Given the description of an element on the screen output the (x, y) to click on. 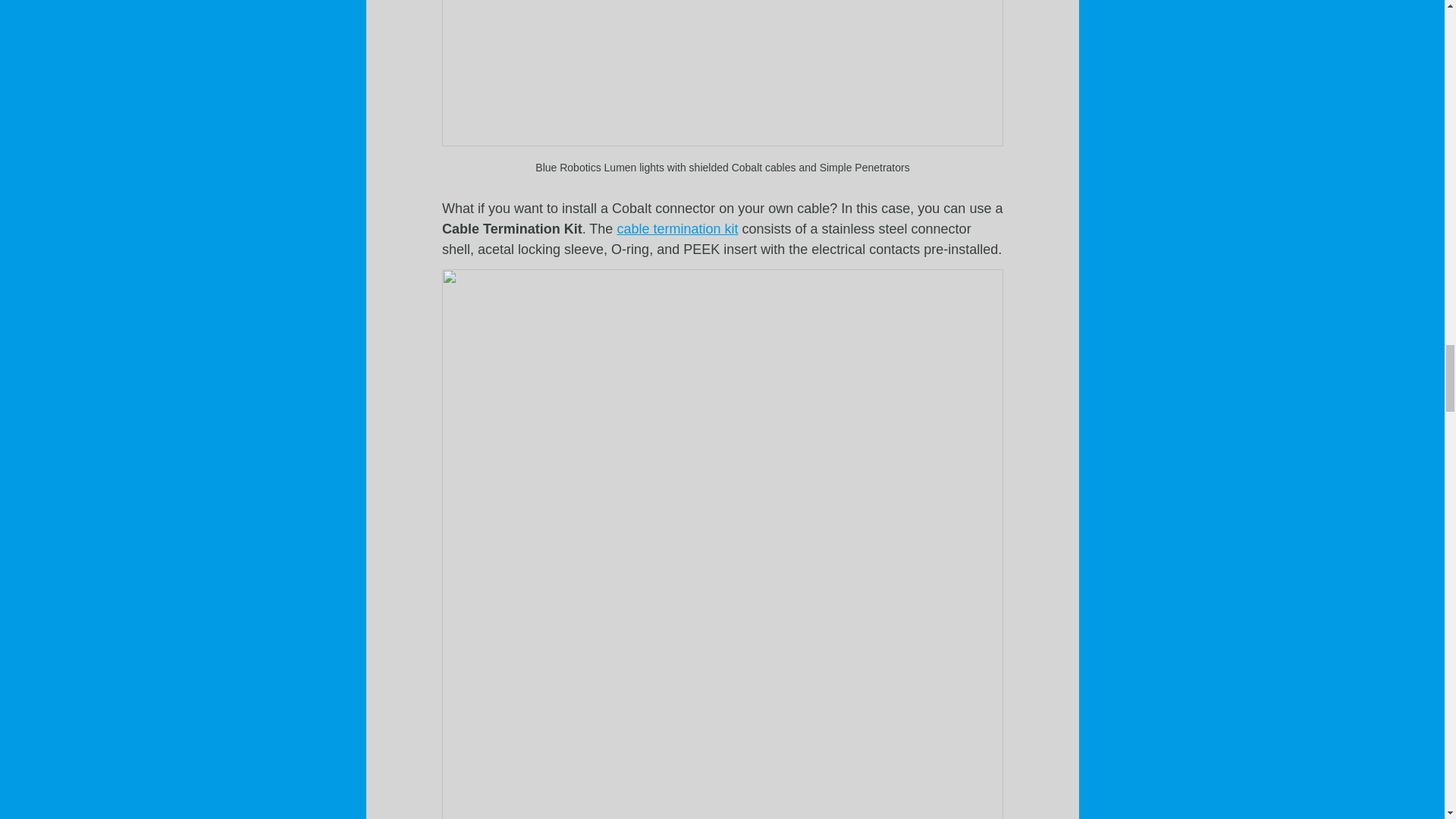
cable termination kit (676, 228)
